Given the description of an element on the screen output the (x, y) to click on. 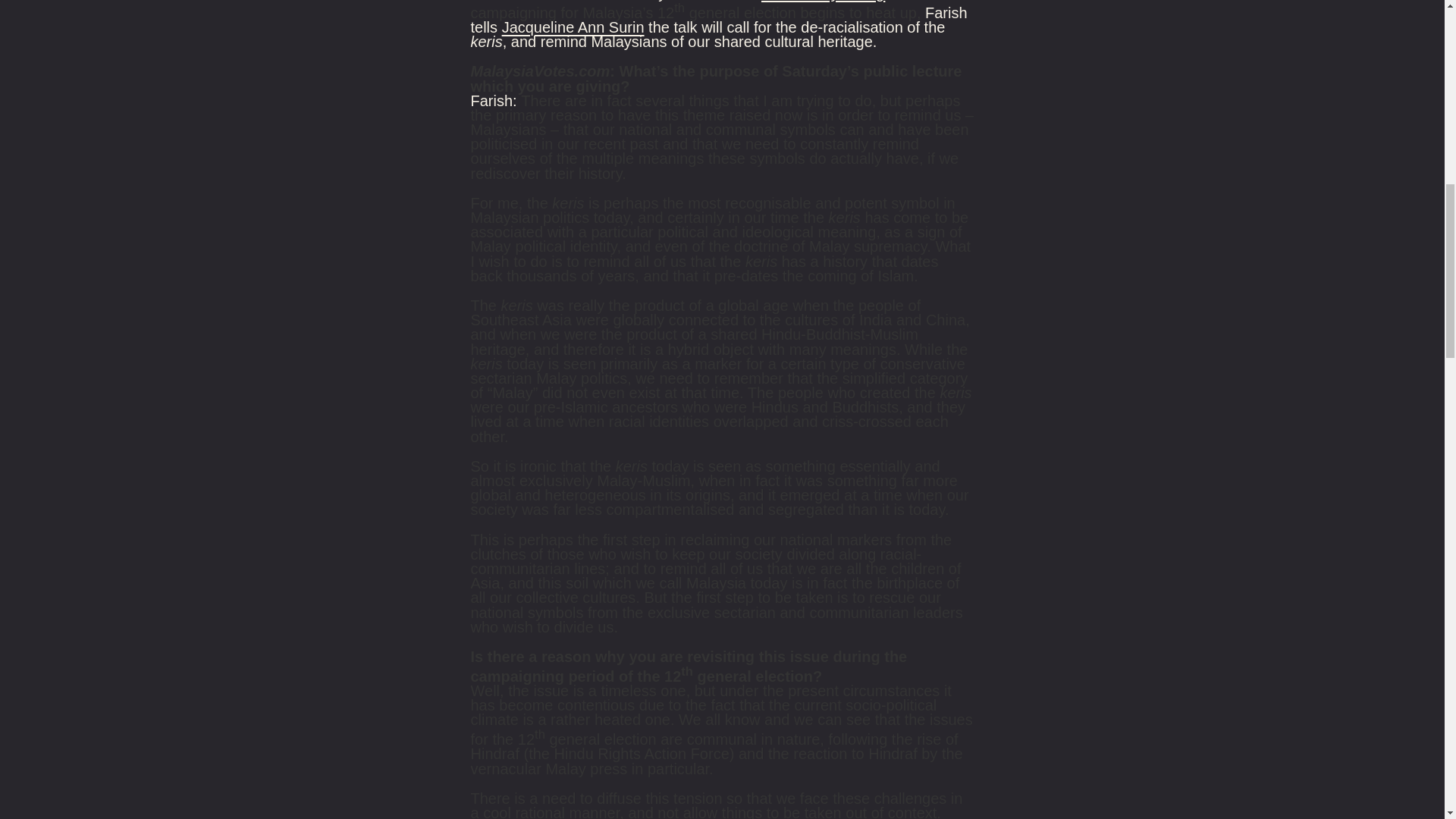
OtherMalaysia.org (823, 0)
Jacqueline Ann Surin (573, 27)
